Given the description of an element on the screen output the (x, y) to click on. 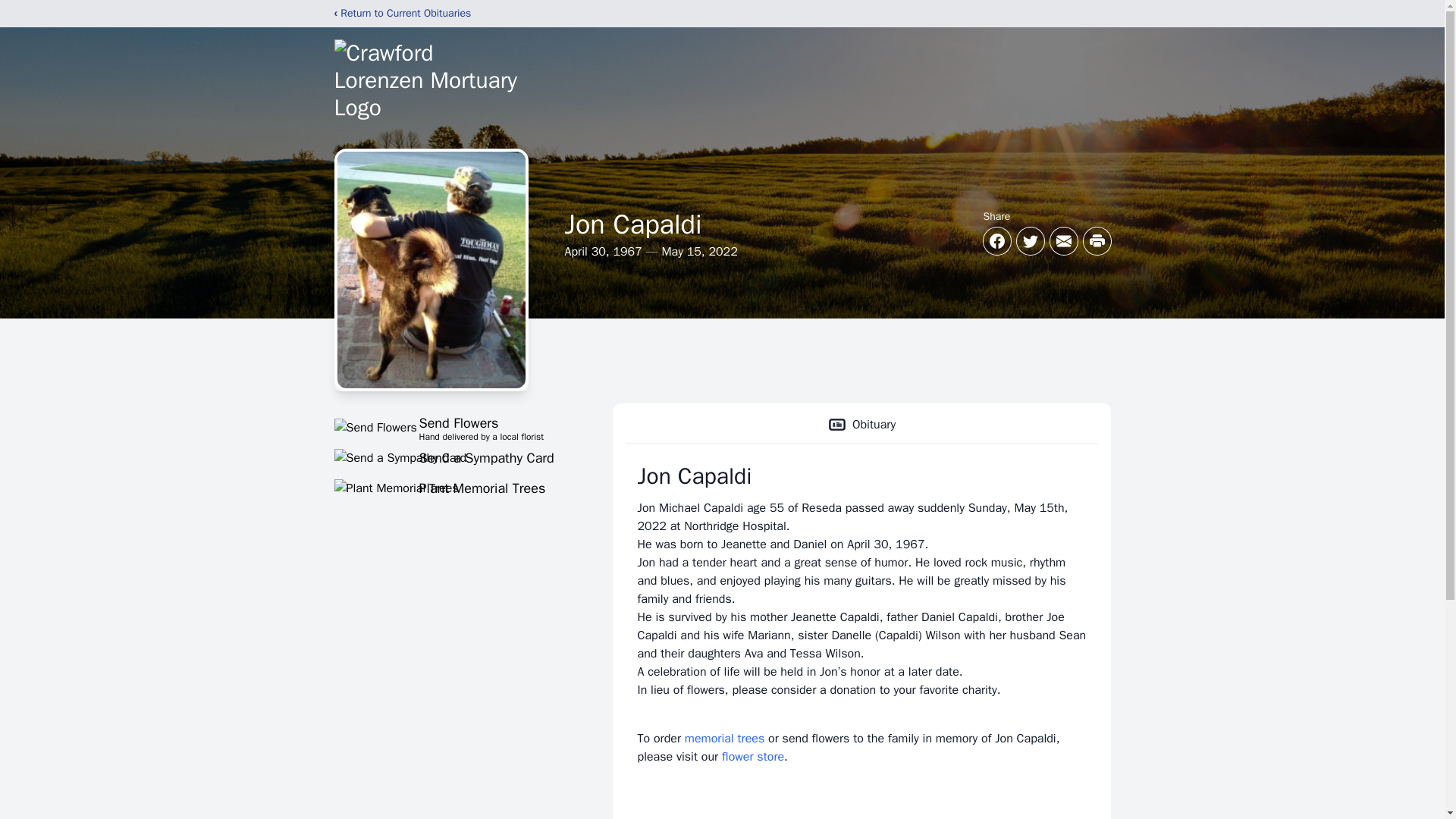
flower store (454, 427)
Send a Sympathy Card (753, 756)
Obituary (454, 457)
Plant Memorial Trees (860, 425)
memorial trees (454, 488)
